Given the description of an element on the screen output the (x, y) to click on. 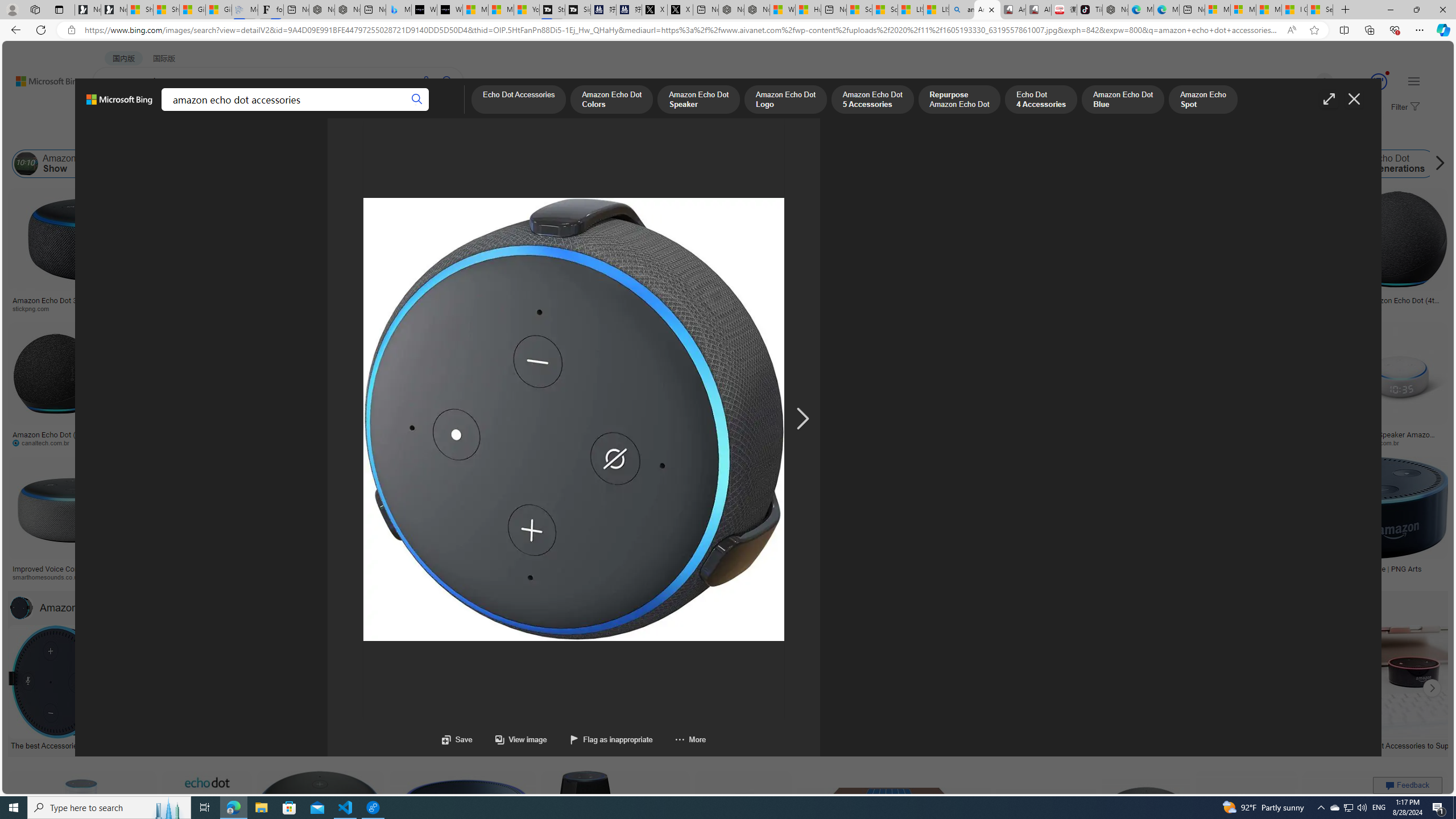
Amazon Echo Dot Png 542 Download (783, 303)
People (295, 135)
DICT (357, 111)
Amazonecho Dot With Alexa (Gen 4) (1190, 568)
Flag as inappropriate (610, 739)
croma.com (503, 442)
